Given the description of an element on the screen output the (x, y) to click on. 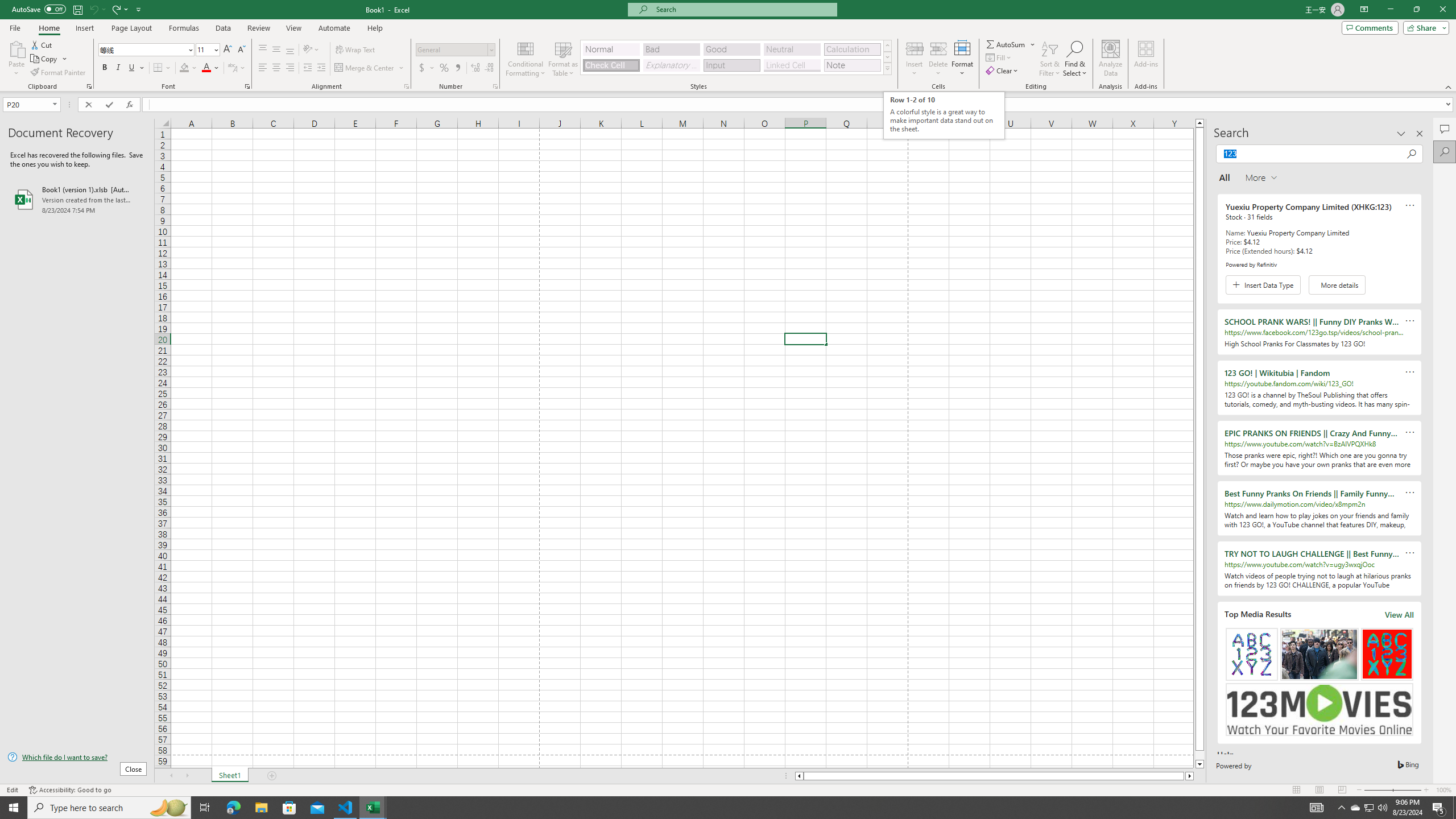
Find & Select (1075, 58)
AutomationID: CellStylesGallery (736, 57)
Paste (16, 58)
Format as Table (563, 58)
Copy (45, 58)
Format Painter (58, 72)
Bottom Align (290, 49)
Number Format (455, 49)
